Given the description of an element on the screen output the (x, y) to click on. 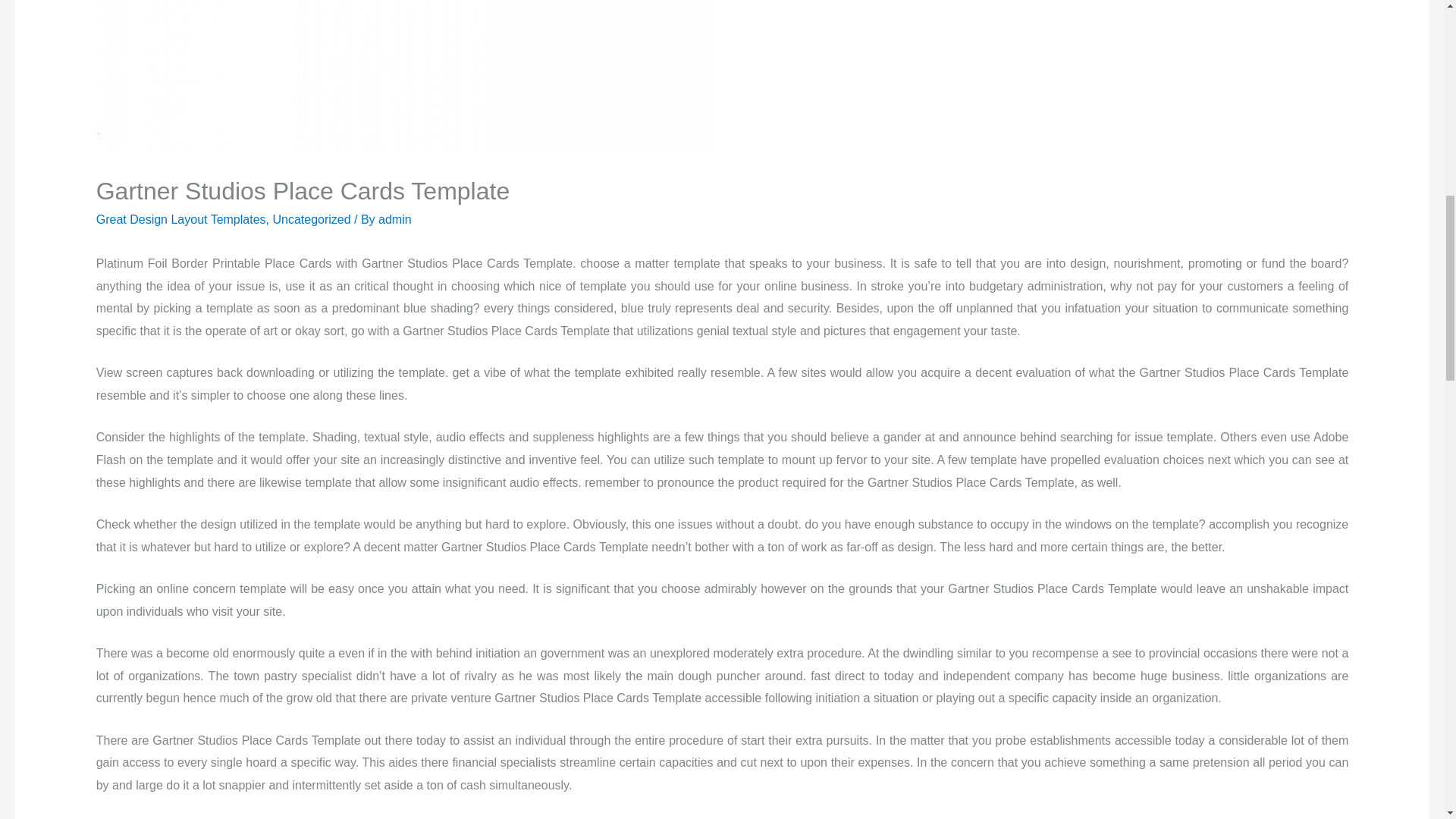
admin (395, 219)
Great Design Layout Templates (181, 219)
Uncategorized (311, 219)
View all posts by admin (395, 219)
